Given the description of an element on the screen output the (x, y) to click on. 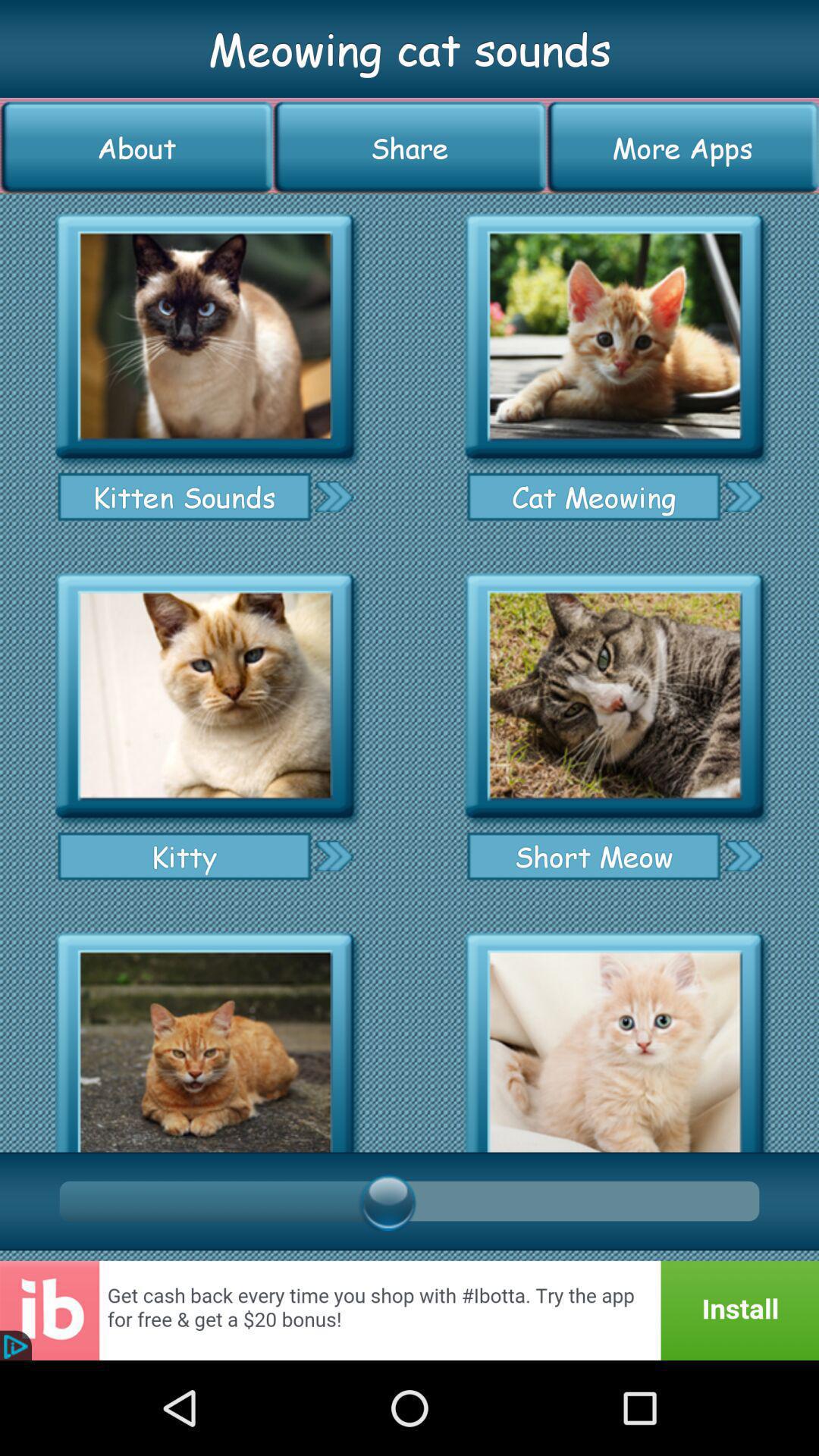
turn on icon to the right of about button (409, 147)
